Given the description of an element on the screen output the (x, y) to click on. 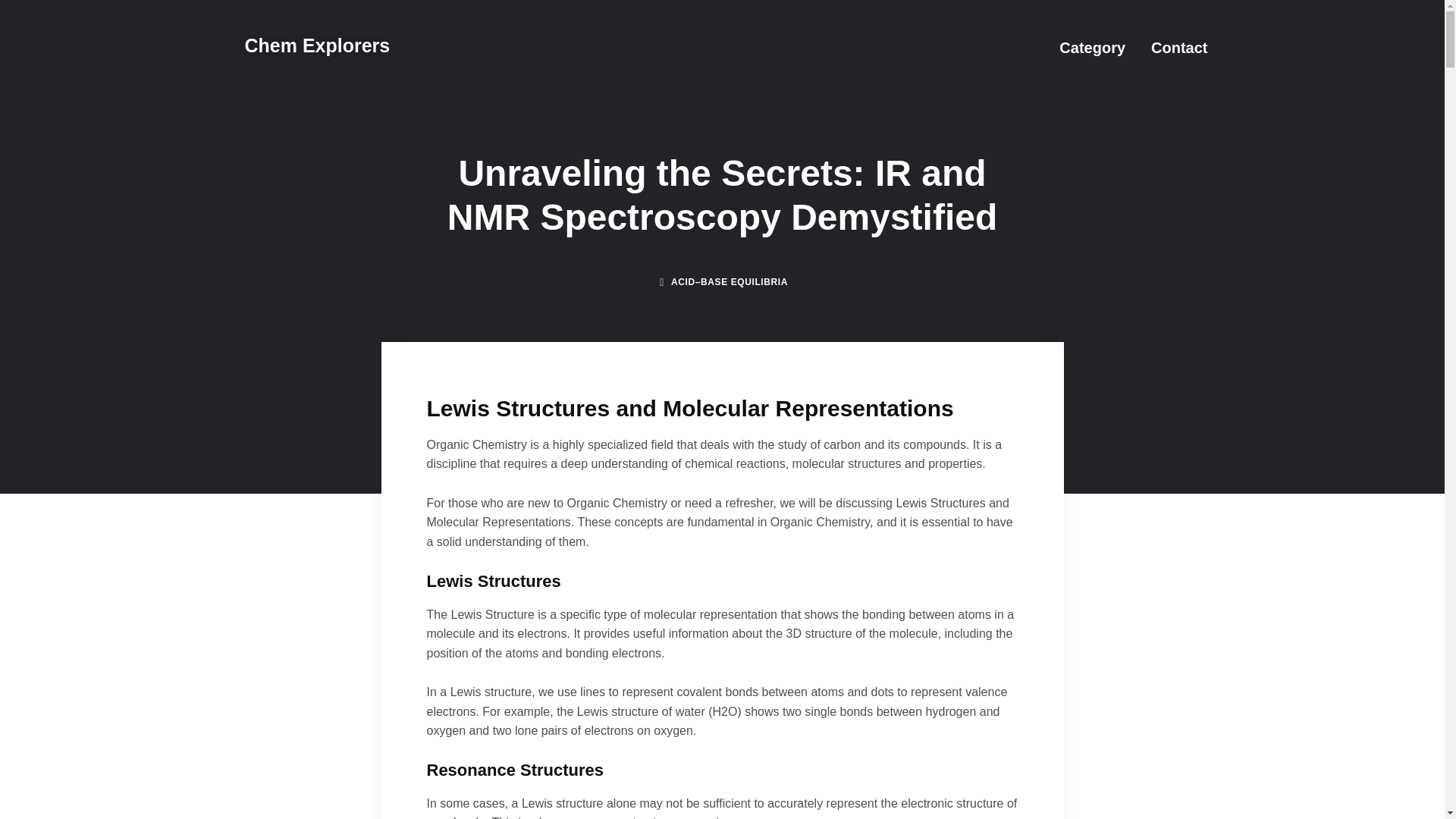
Chem Explorers (317, 45)
Category (1092, 47)
Contact (1179, 47)
